Given the description of an element on the screen output the (x, y) to click on. 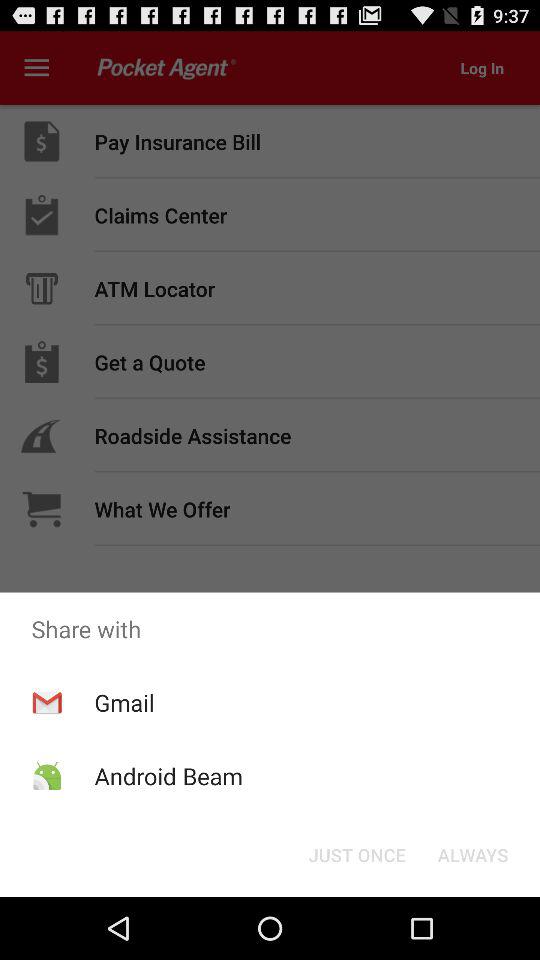
press app above the android beam item (124, 702)
